Given the description of an element on the screen output the (x, y) to click on. 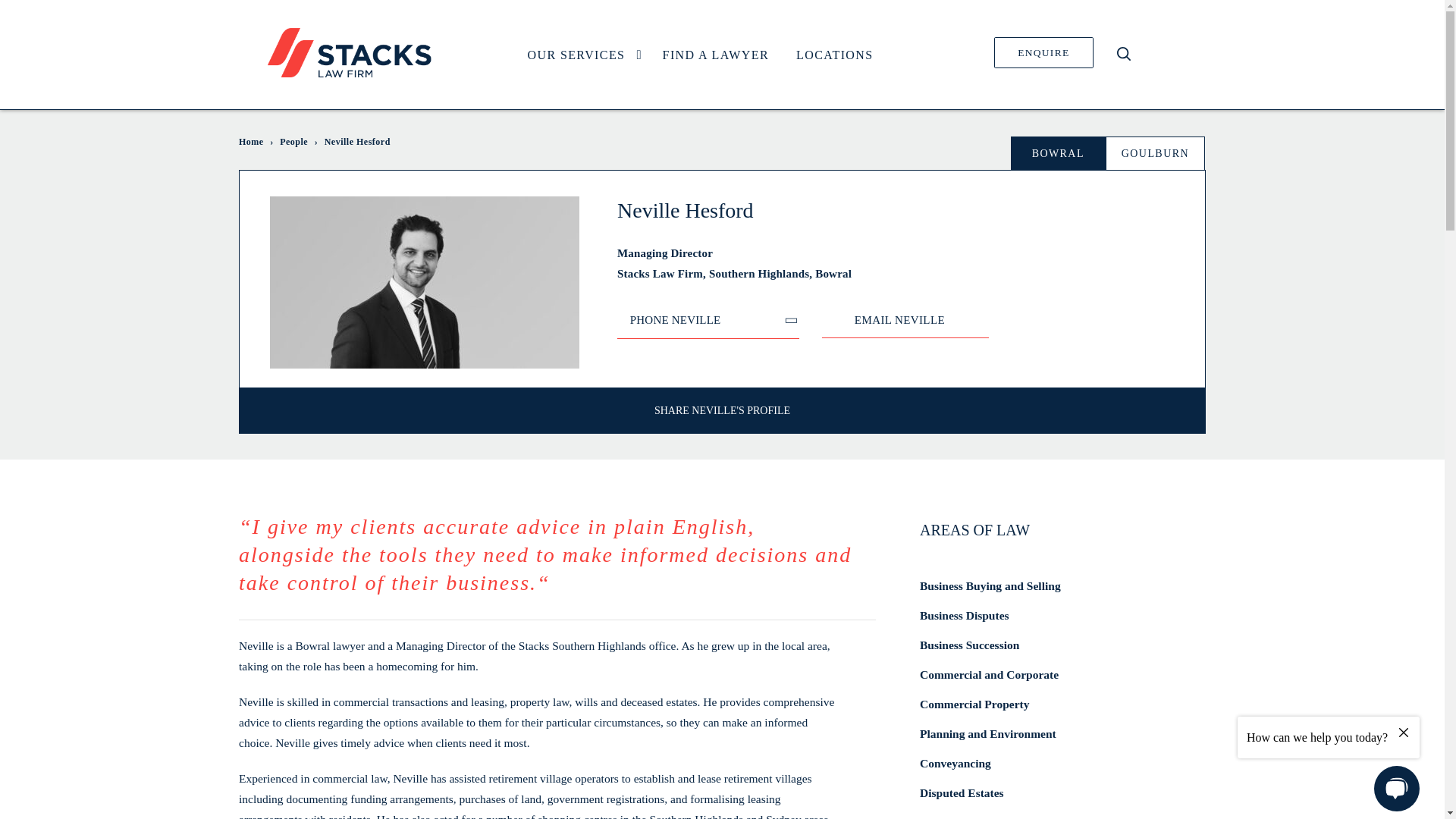
LOCATIONS (834, 54)
OUR SERVICES (581, 54)
Home (250, 141)
FIND A LAWYER (716, 54)
ENQUIRE (1043, 52)
BOWRAL (1057, 153)
Stacks Law Firm, Southern Highlands, Bowral (876, 273)
People (293, 141)
Stacks Law Firm (348, 51)
GOULBURN (1155, 153)
